Given the description of an element on the screen output the (x, y) to click on. 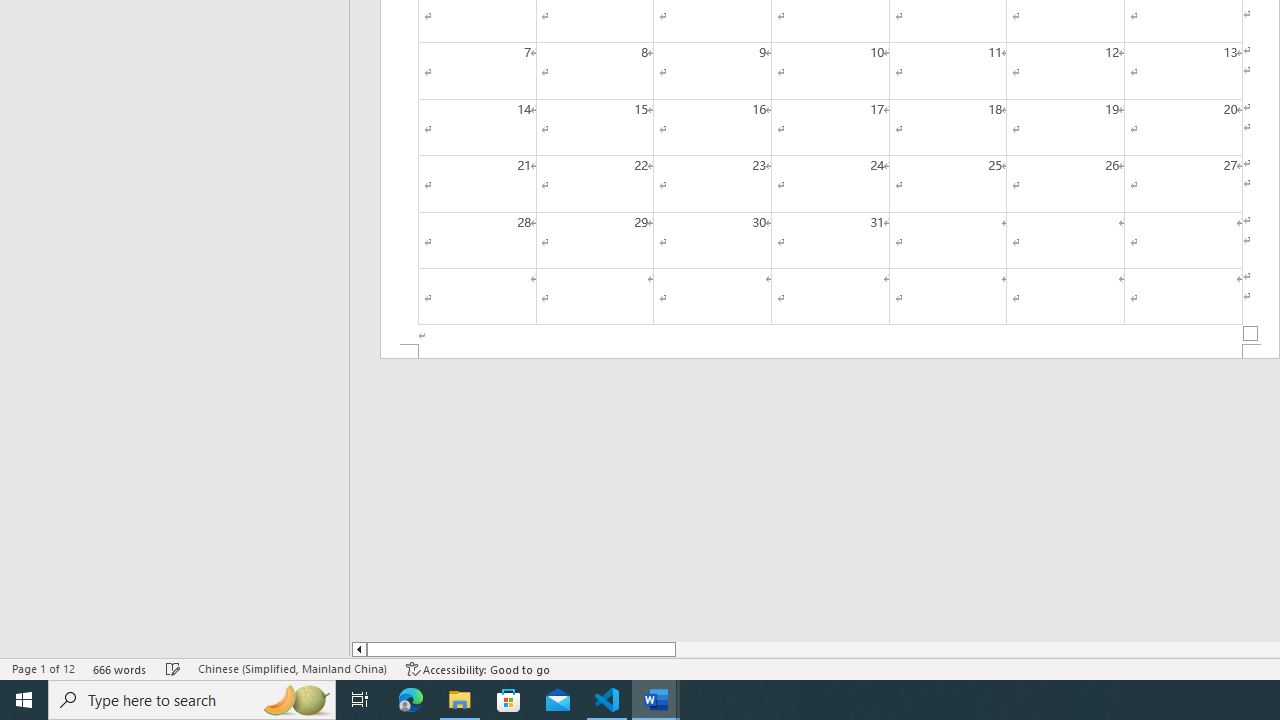
Column left (358, 649)
Accessibility Checker Accessibility: Good to go (478, 668)
Language Chinese (Simplified, Mainland China) (292, 668)
Word Count 666 words (119, 668)
Page Number Page 1 of 12 (43, 668)
Spelling and Grammar Check Checking (173, 668)
Footer -Section 1- (830, 351)
